Given the description of an element on the screen output the (x, y) to click on. 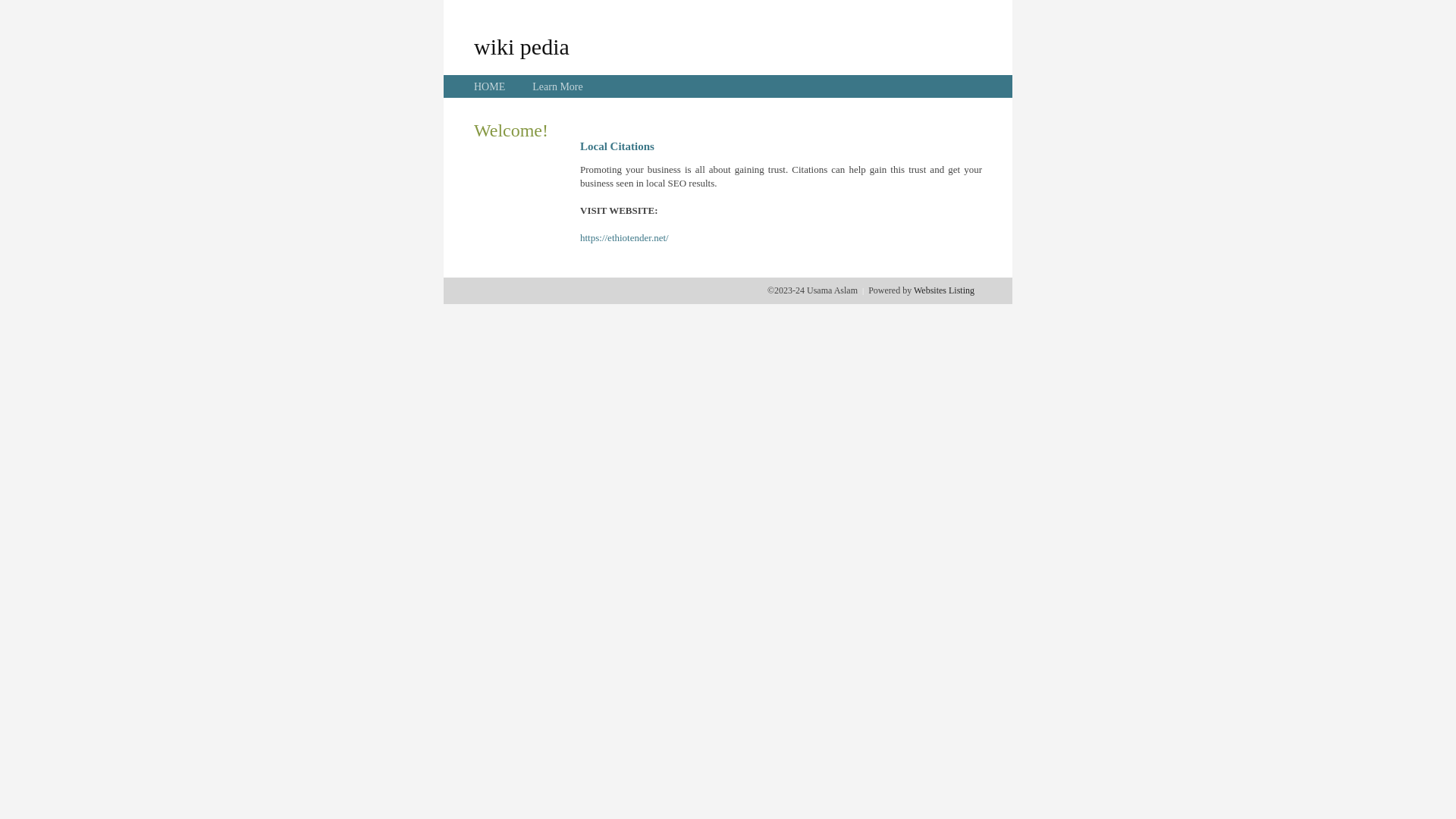
wiki pedia Element type: text (521, 46)
Learn More Element type: text (557, 86)
Websites Listing Element type: text (943, 290)
https://ethiotender.net/ Element type: text (624, 237)
HOME Element type: text (489, 86)
